Given the description of an element on the screen output the (x, y) to click on. 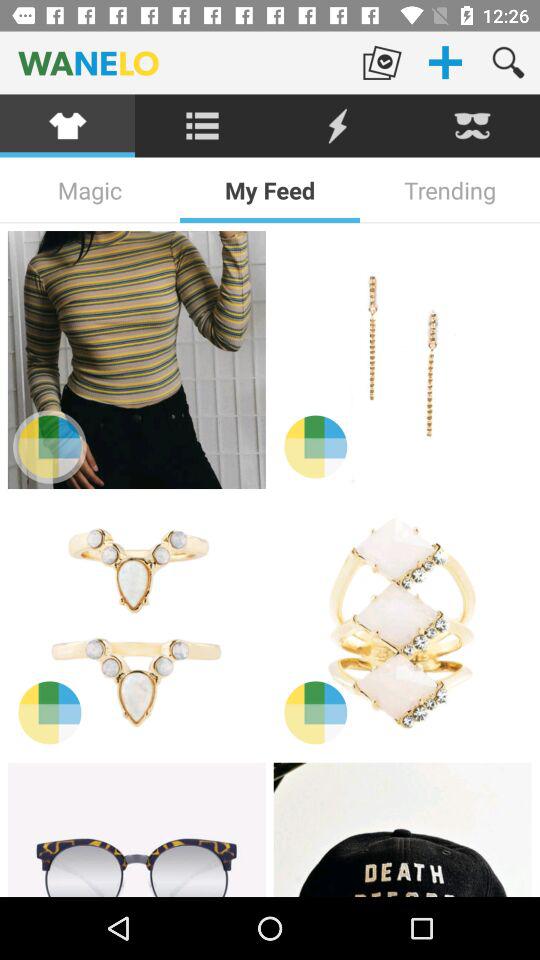
different color options (315, 446)
